Given the description of an element on the screen output the (x, y) to click on. 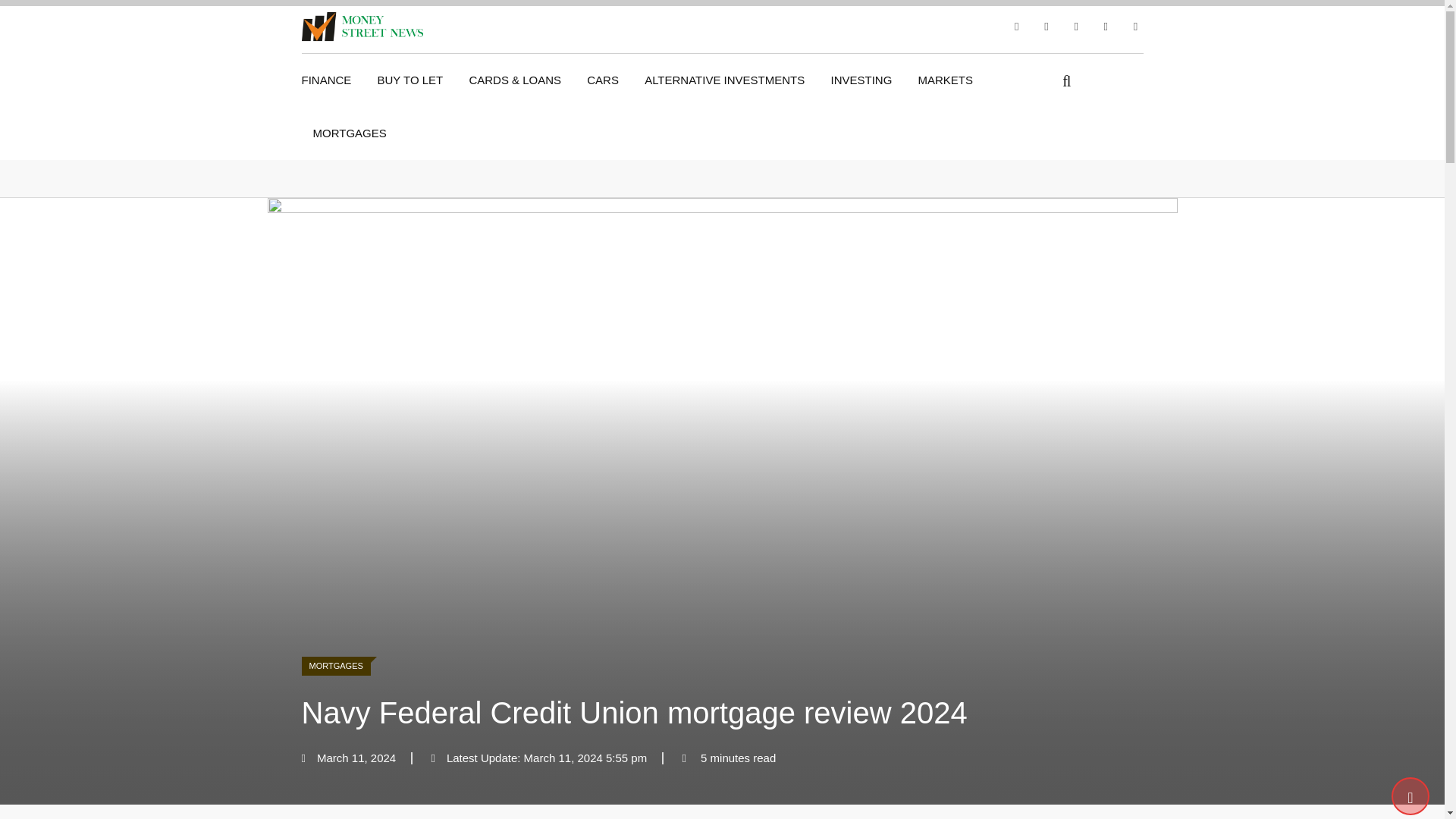
FINANCE (331, 80)
MARKETS (946, 80)
CARS (602, 80)
MORTGAGES (349, 133)
ALTERNATIVE INVESTMENTS (724, 80)
INVESTING (860, 80)
MORTGAGES (341, 664)
BUY TO LET (410, 80)
